Given the description of an element on the screen output the (x, y) to click on. 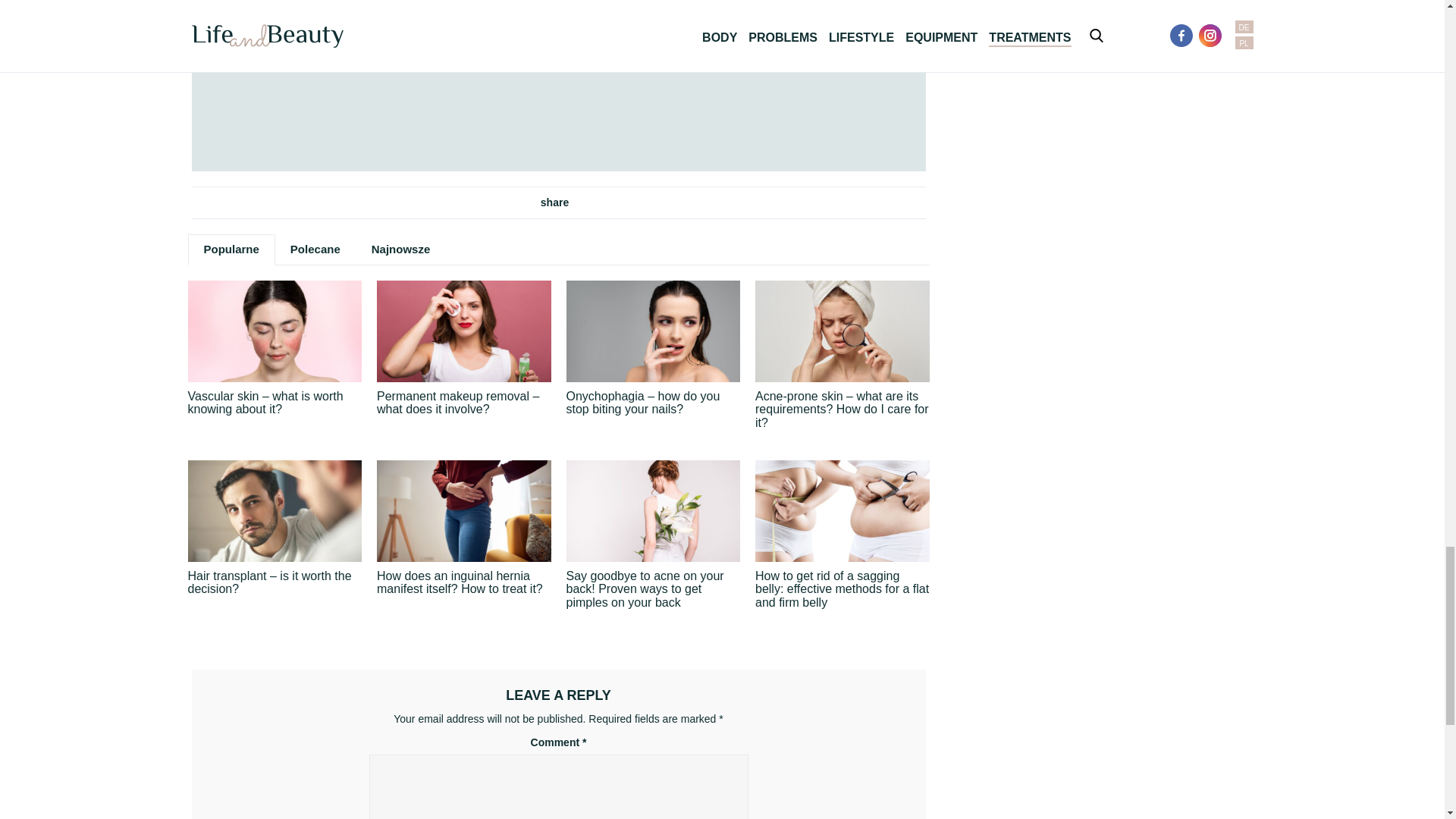
Advertisement (558, 85)
